Given the description of an element on the screen output the (x, y) to click on. 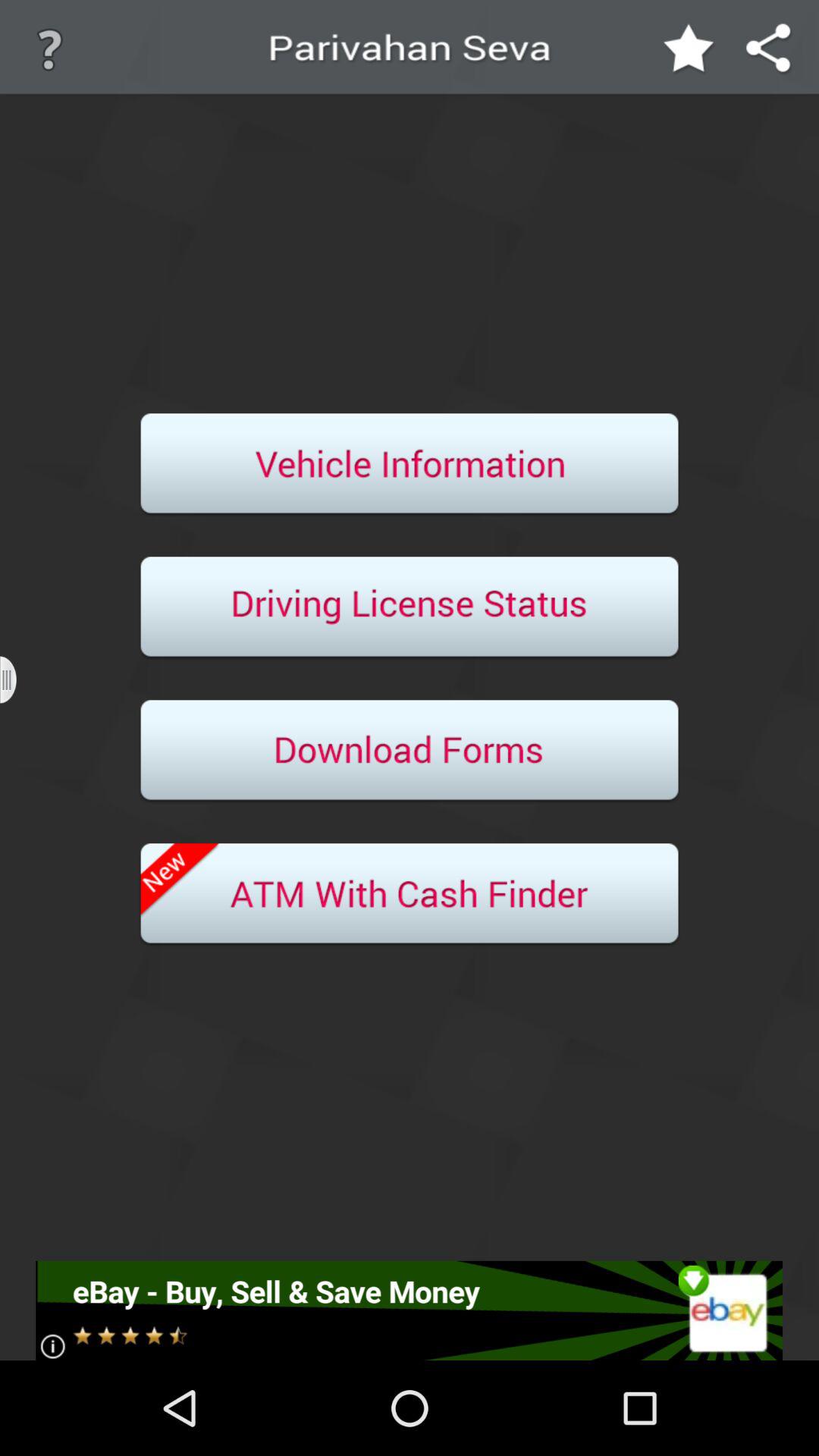
driving license status (409, 608)
